Given the description of an element on the screen output the (x, y) to click on. 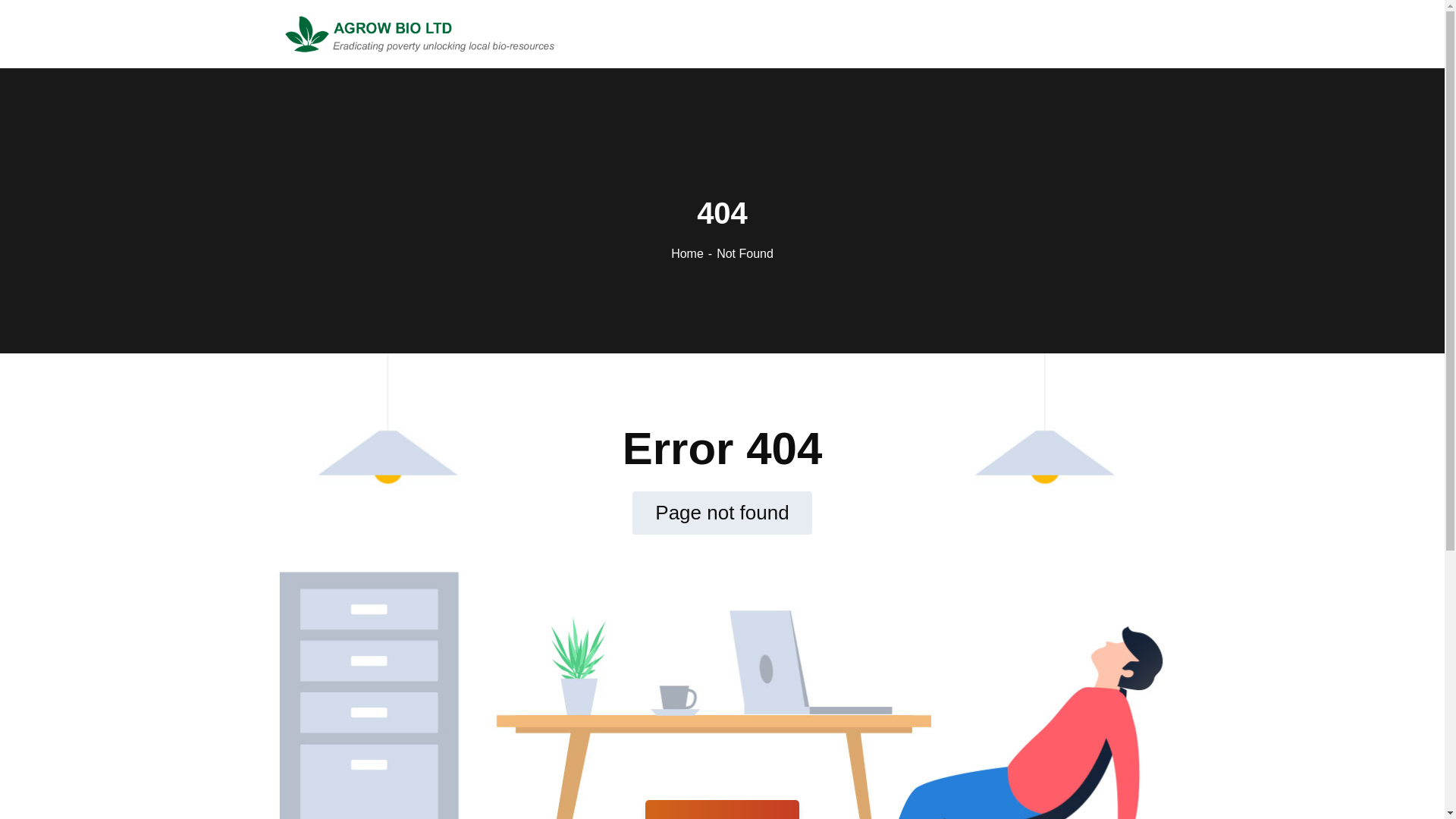
Go Home now (722, 809)
Agrow Bio Ltd (420, 32)
Home (693, 253)
